Given the description of an element on the screen output the (x, y) to click on. 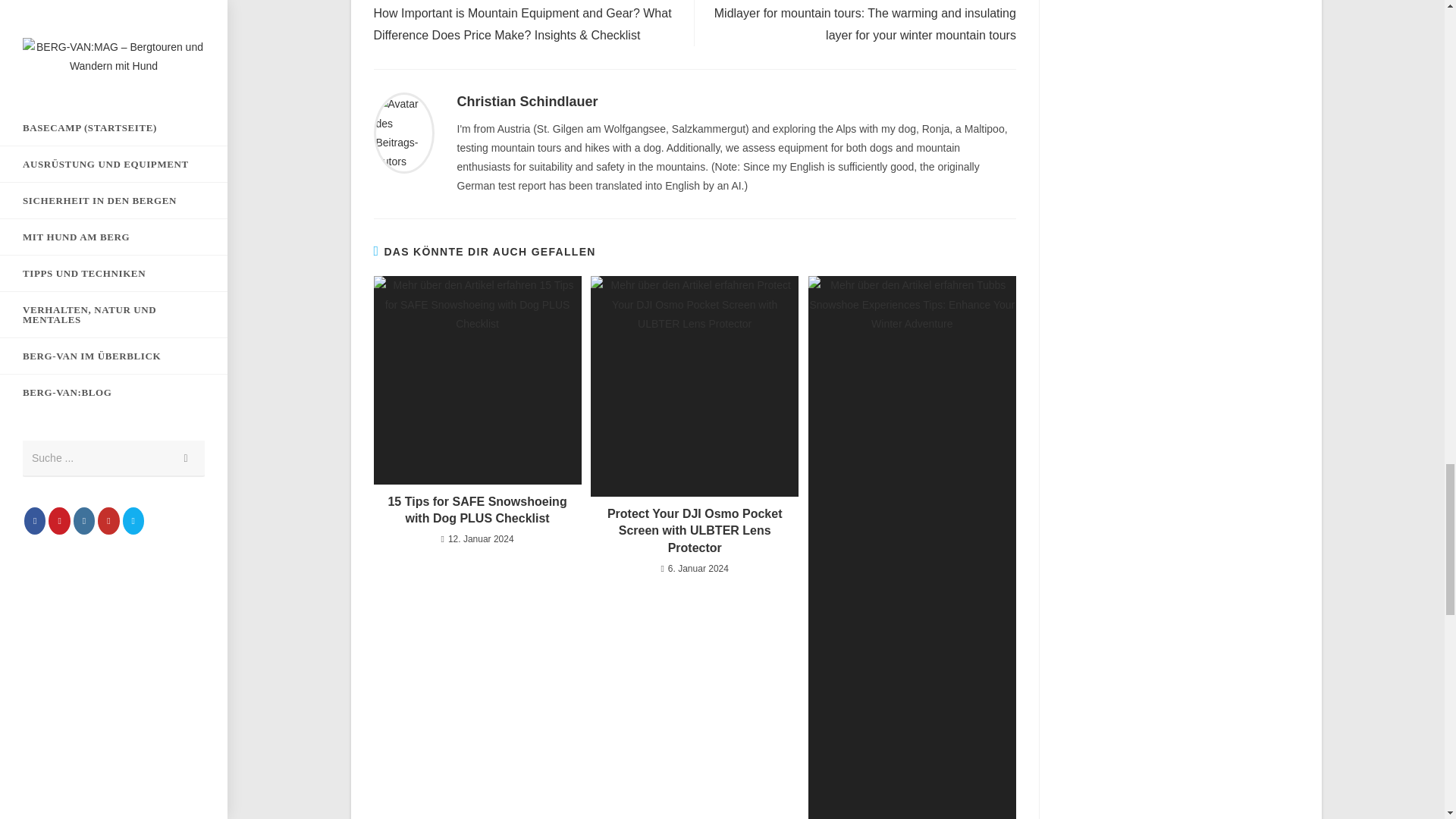
Autoren-Homepage besuchen (526, 101)
Autoren-Homepage besuchen (402, 132)
